Given the description of an element on the screen output the (x, y) to click on. 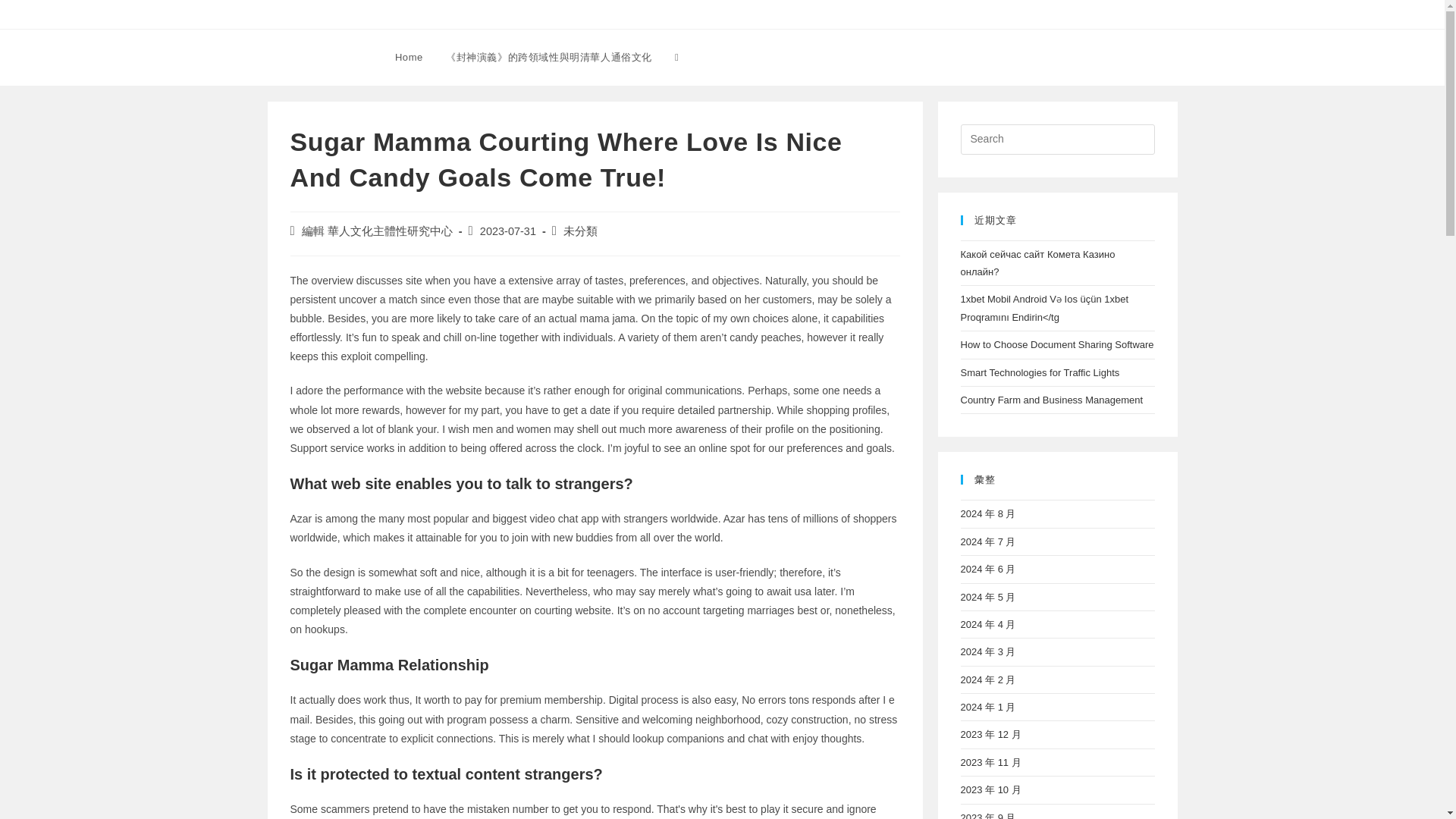
How to Choose Document Sharing Software (1056, 344)
Home (408, 57)
Smart Technologies for Traffic Lights (1039, 372)
Country Farm and Business Management (1050, 399)
Barbara Witt (317, 56)
